Given the description of an element on the screen output the (x, y) to click on. 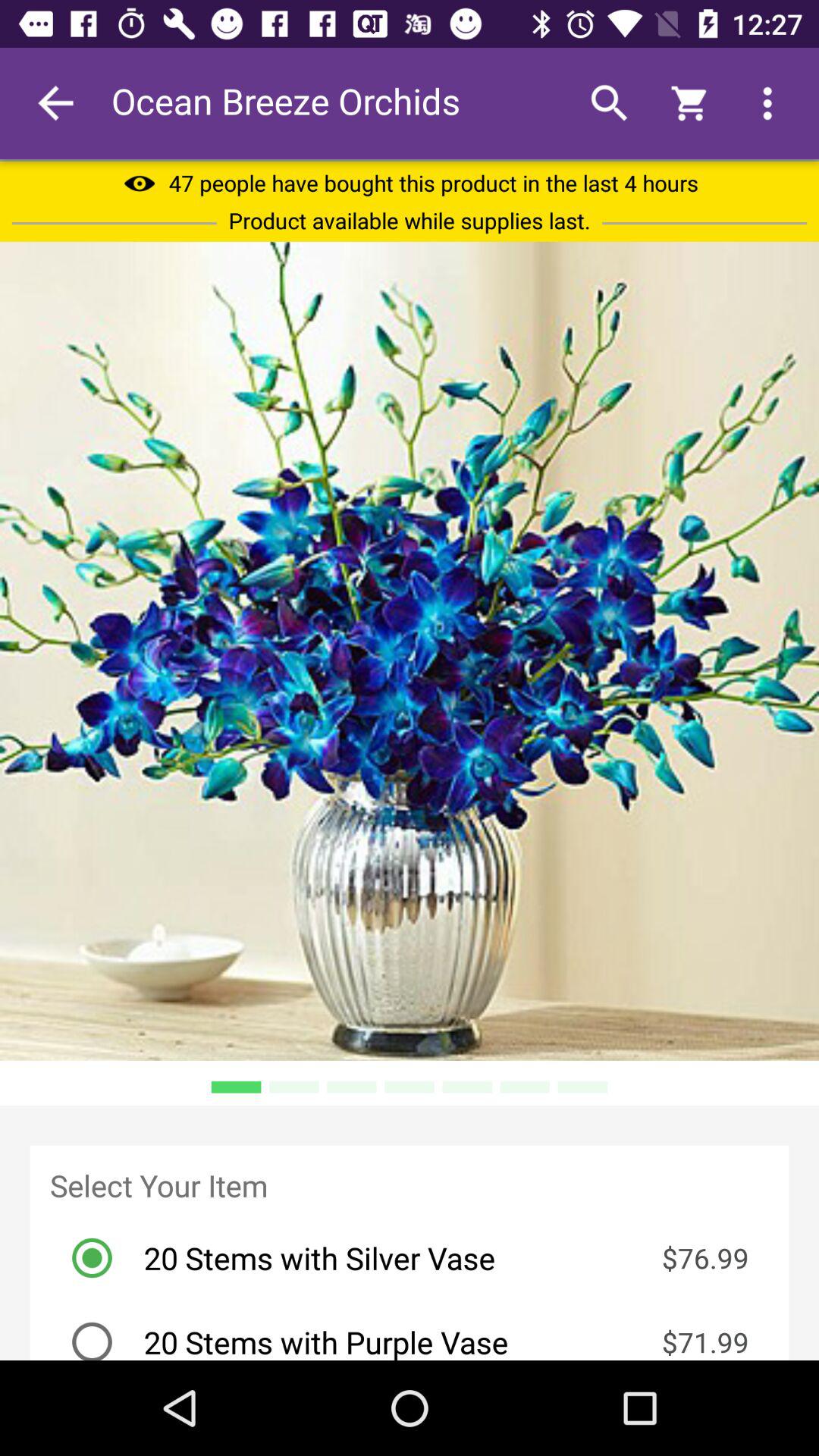
open the icon to the left of ocean breeze orchids item (55, 103)
